Given the description of an element on the screen output the (x, y) to click on. 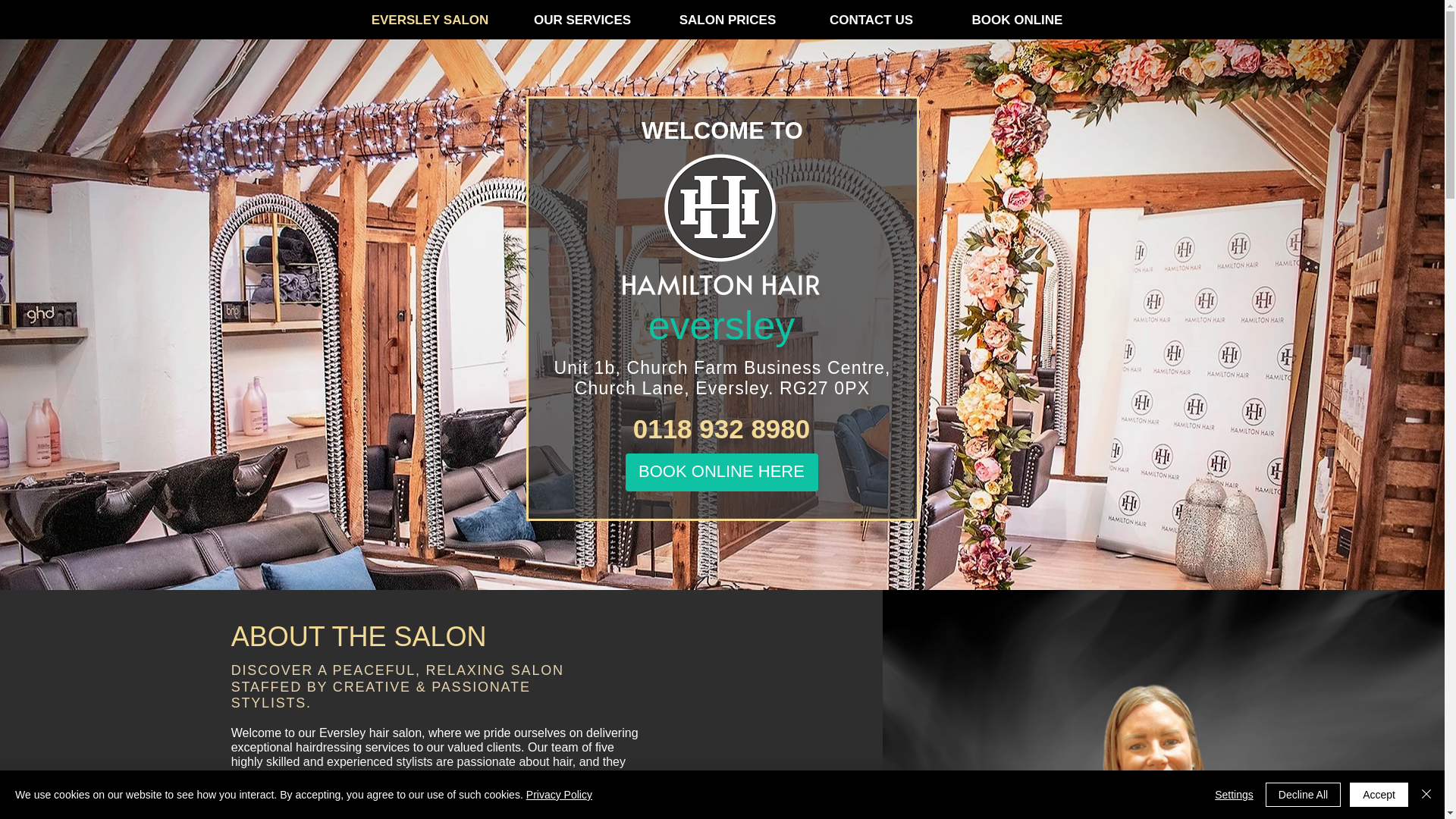
BOOK ONLINE HERE (720, 472)
EVERSLEY SALON (430, 20)
OUR SERVICES (581, 20)
Accept (1378, 794)
Privacy Policy (558, 794)
SALON PRICES (727, 20)
Decline All (1302, 794)
BOOK ONLINE (1017, 20)
CONTACT US (871, 20)
